Given the description of an element on the screen output the (x, y) to click on. 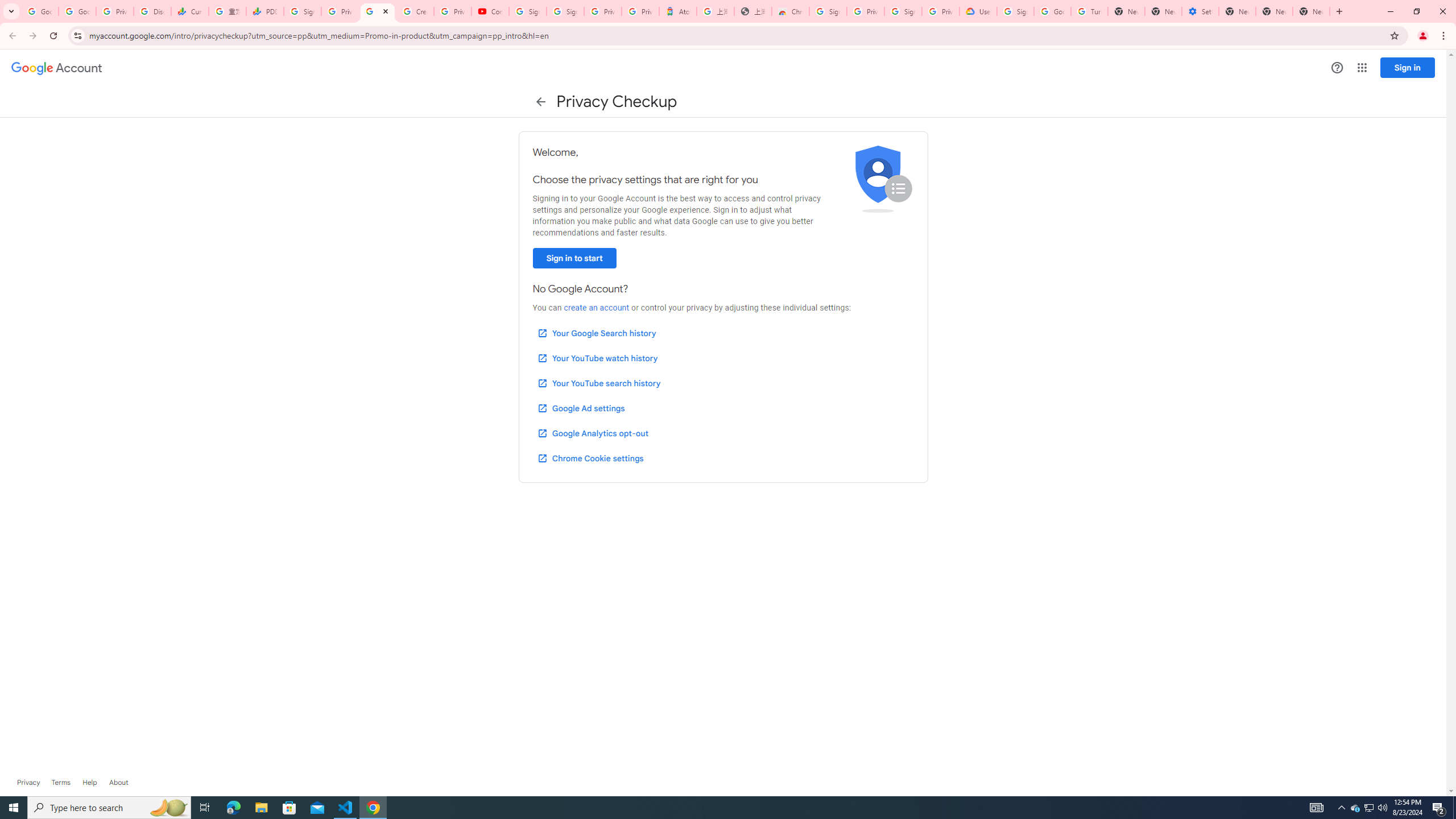
New Tab (1126, 11)
Google apps (1362, 67)
create an account (595, 307)
Learn more about Google Account (118, 782)
Google Ad settings (580, 408)
